Given the description of an element on the screen output the (x, y) to click on. 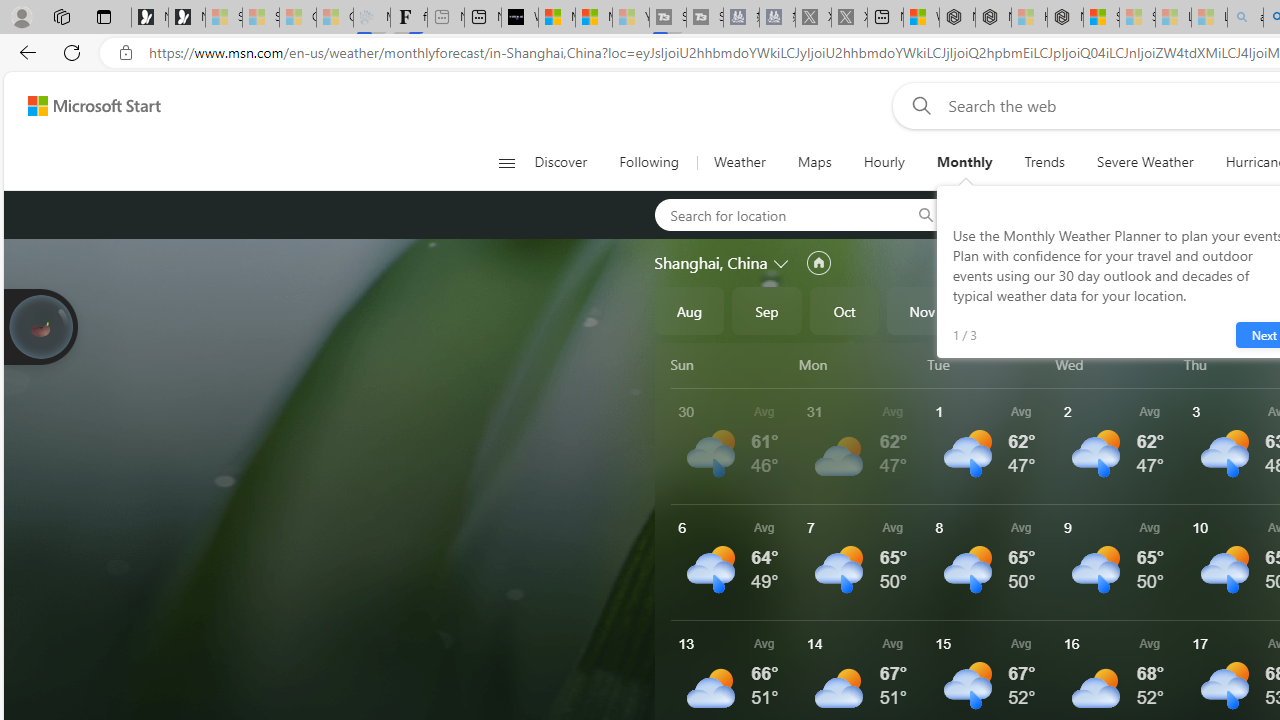
Following (649, 162)
Hourly (884, 162)
Weather (738, 162)
Aberdeen (1014, 214)
Open navigation menu (506, 162)
Nov (922, 310)
Severe Weather (1145, 162)
